Given the description of an element on the screen output the (x, y) to click on. 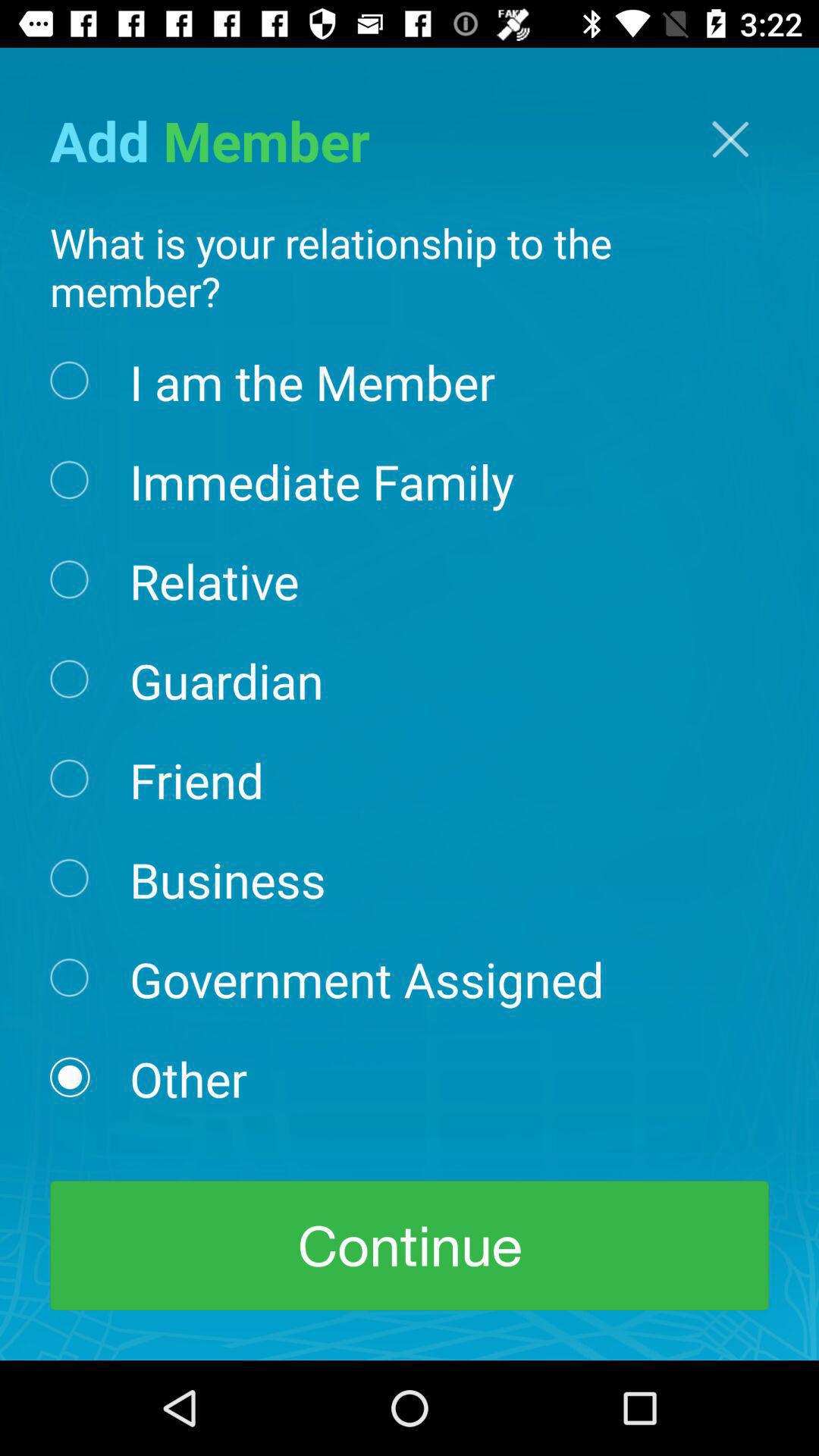
turn off item above government assigned icon (227, 878)
